Given the description of an element on the screen output the (x, y) to click on. 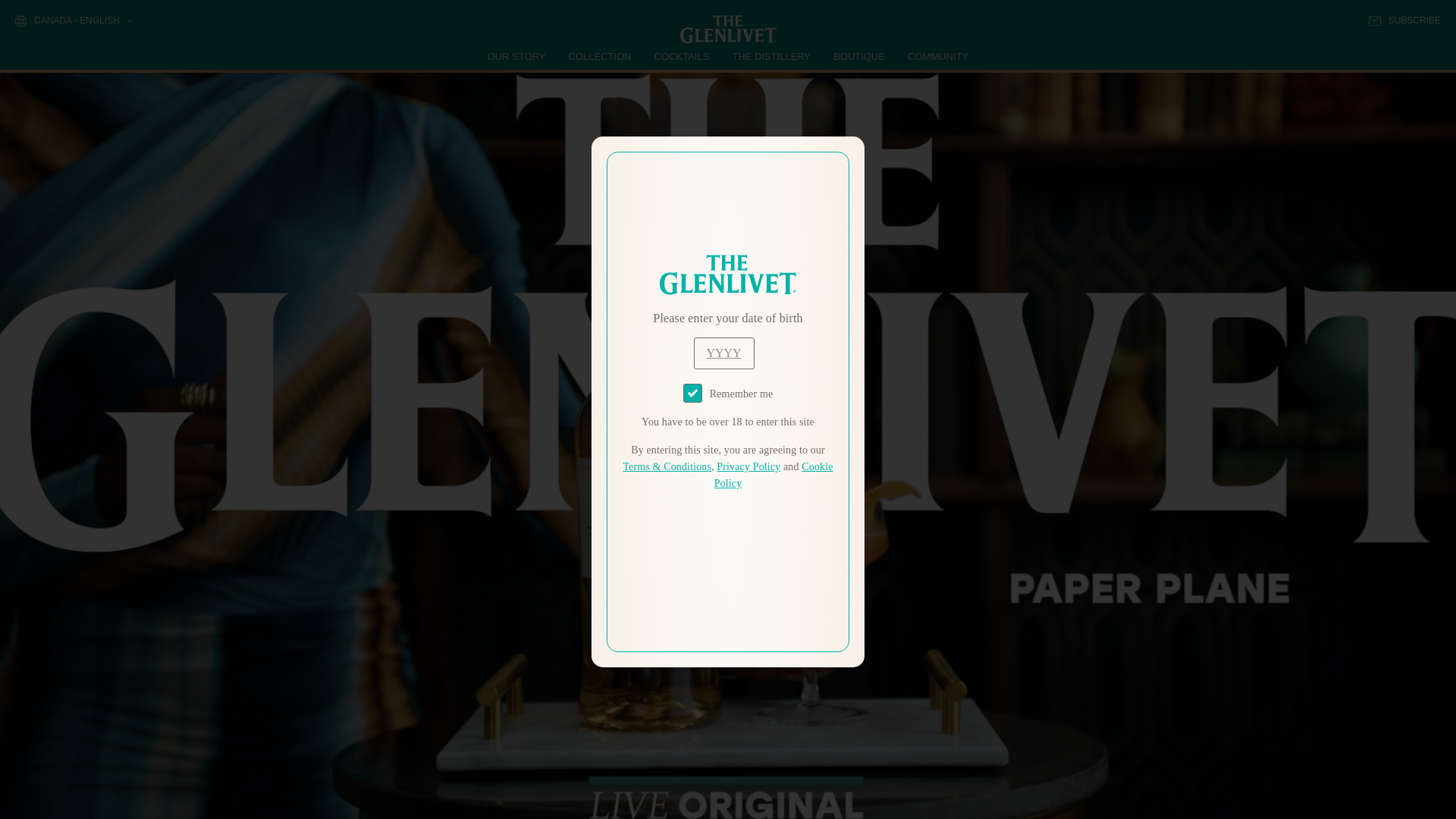
OUR STORY (516, 56)
BOUTIQUE (858, 56)
THE DISTILLERY (771, 56)
CANADA - ENGLISH (73, 21)
SUBSCRIBE (1404, 20)
COMMUNITY (937, 56)
Cookie Policy (773, 474)
Privacy Policy (748, 466)
COLLECTION (600, 56)
year (723, 353)
